Given the description of an element on the screen output the (x, y) to click on. 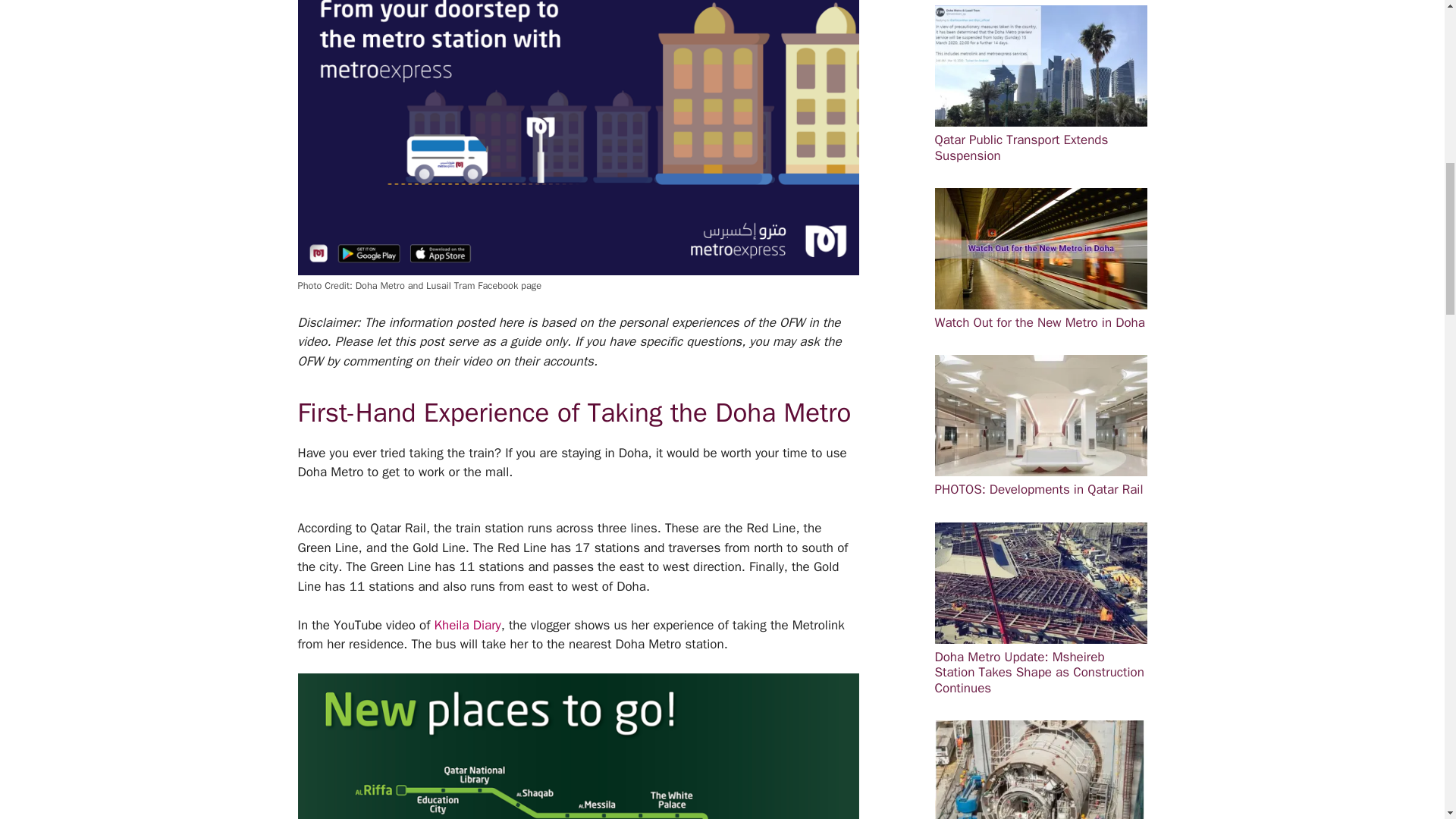
Watch Out for the New Metro in Doha (1040, 259)
Kheila Diary (466, 625)
PHOTOS: Developments in Qatar Rail (1040, 425)
Qatar Public Transport Extends Suspension (1040, 83)
